Given the description of an element on the screen output the (x, y) to click on. 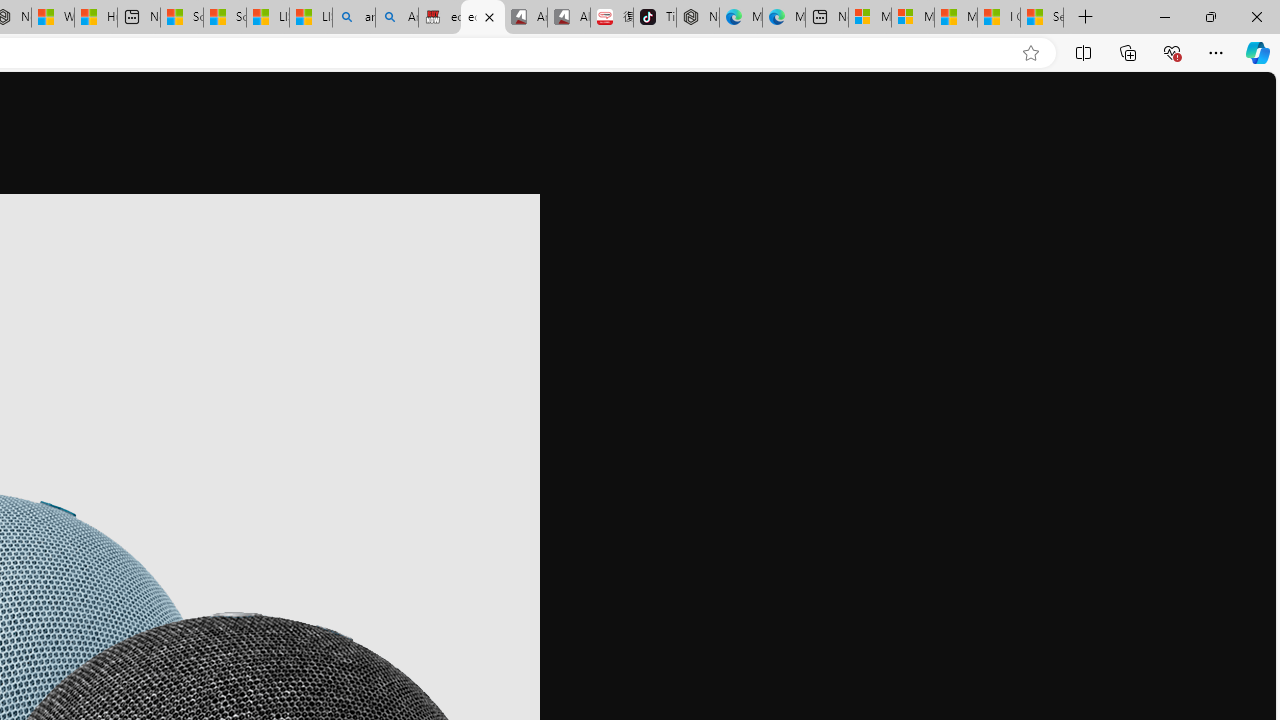
All Cubot phones (568, 17)
TikTok (654, 17)
